Given the description of an element on the screen output the (x, y) to click on. 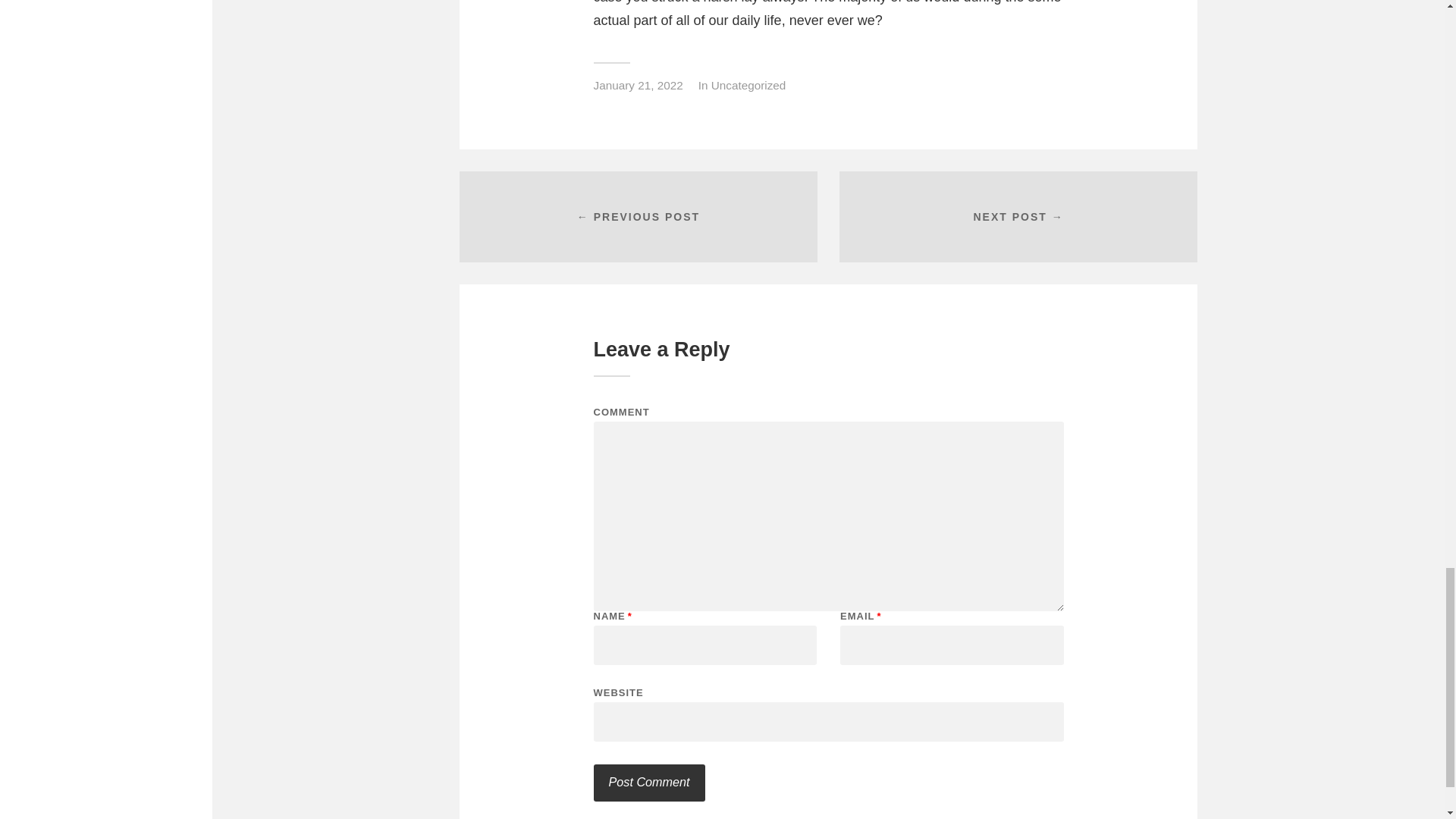
Post Comment (648, 782)
January 21, 2022 (637, 84)
Uncategorized (748, 84)
Post Comment (648, 782)
